Given the description of an element on the screen output the (x, y) to click on. 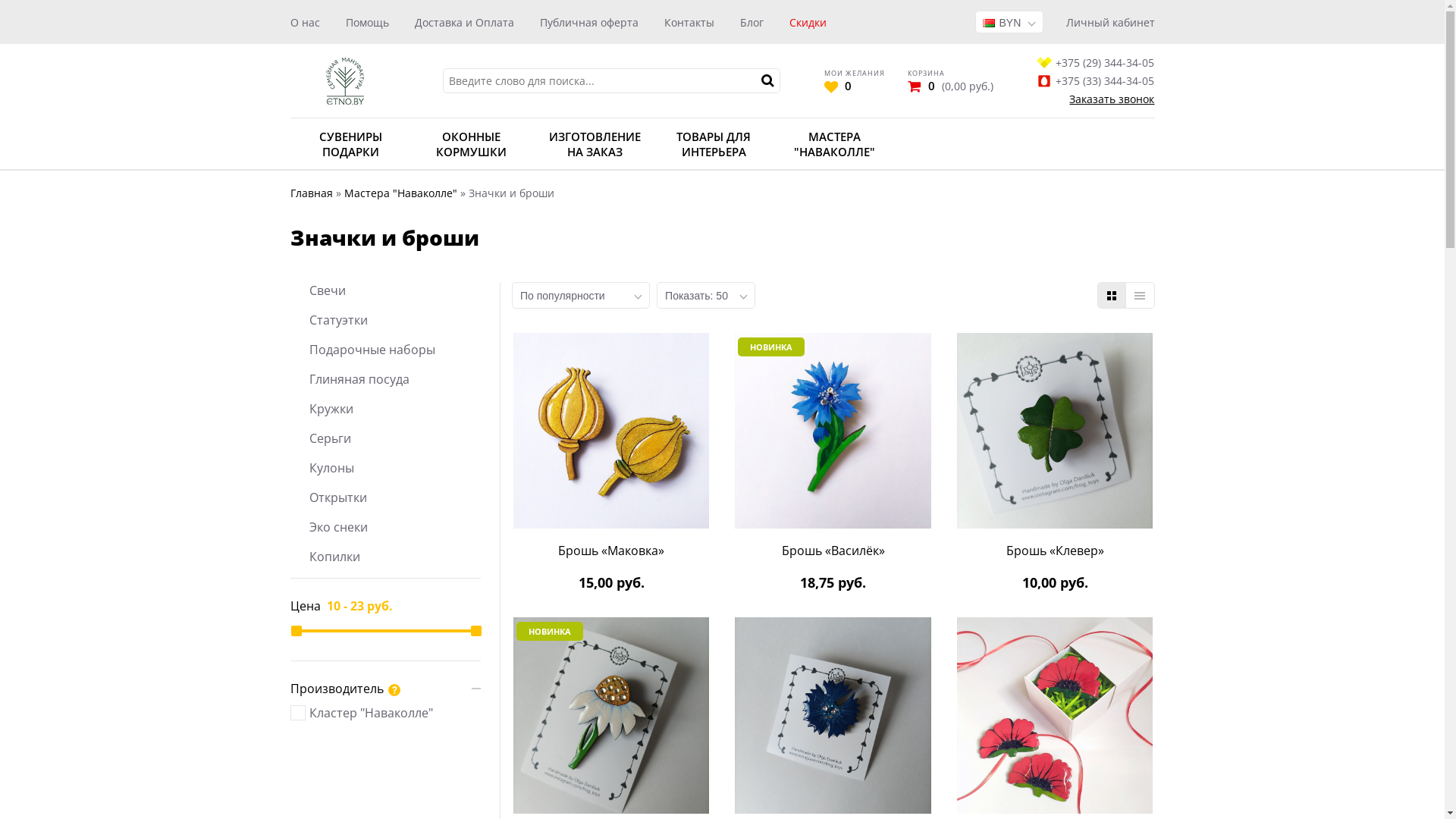
+375 (29) 344-34-05 Element type: text (1095, 62)
+375 (33) 344-34-05 Element type: text (1095, 80)
etno.by  Element type: hover (343, 80)
